Given the description of an element on the screen output the (x, y) to click on. 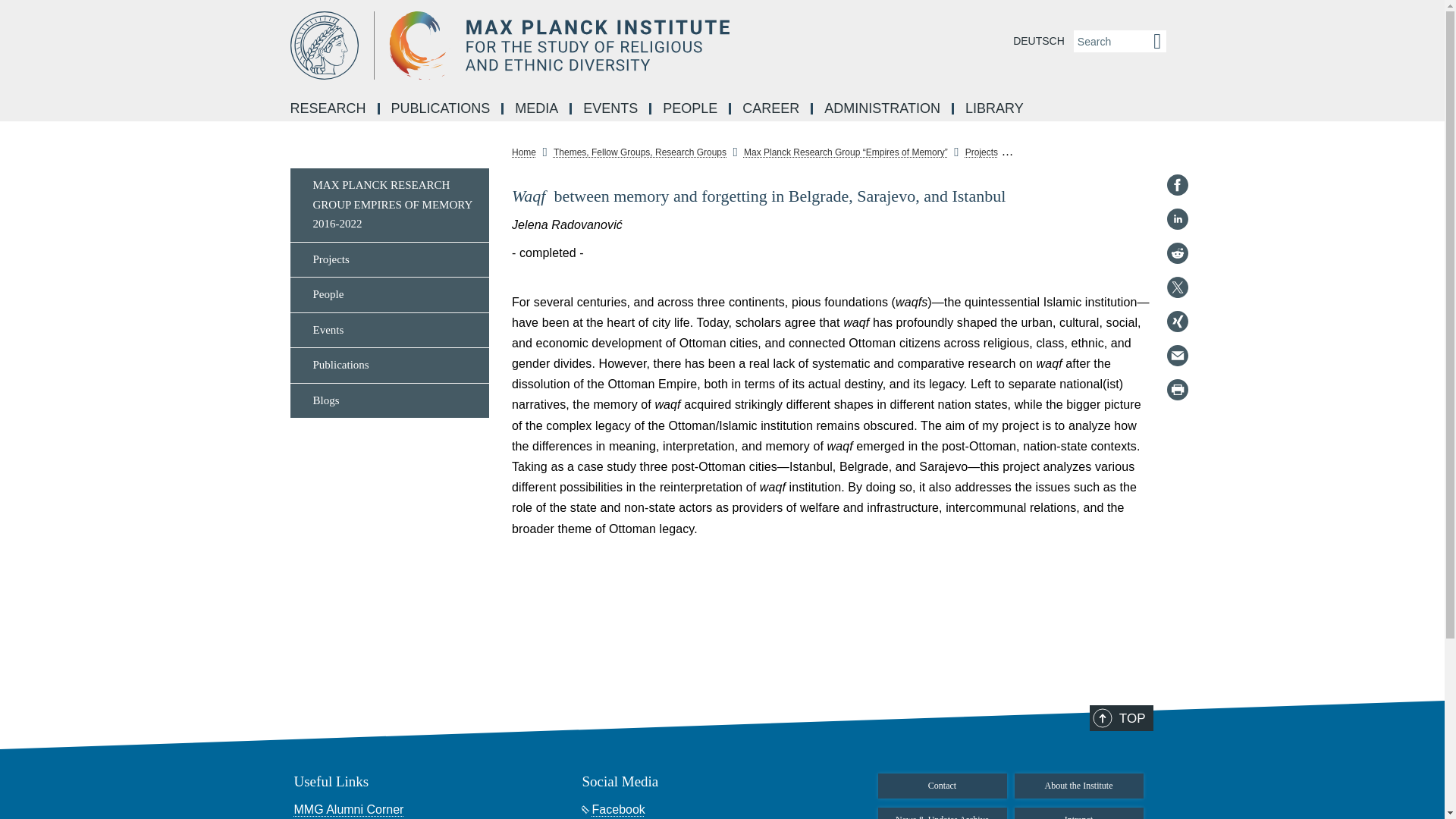
LinkedIn (1177, 219)
Twitter (1177, 287)
DEUTSCH (1038, 41)
Print (1177, 389)
Facebook (1177, 184)
RESEARCH (329, 108)
E-Mail (1177, 354)
Reddit (1177, 252)
Xing (1177, 321)
